Given the description of an element on the screen output the (x, y) to click on. 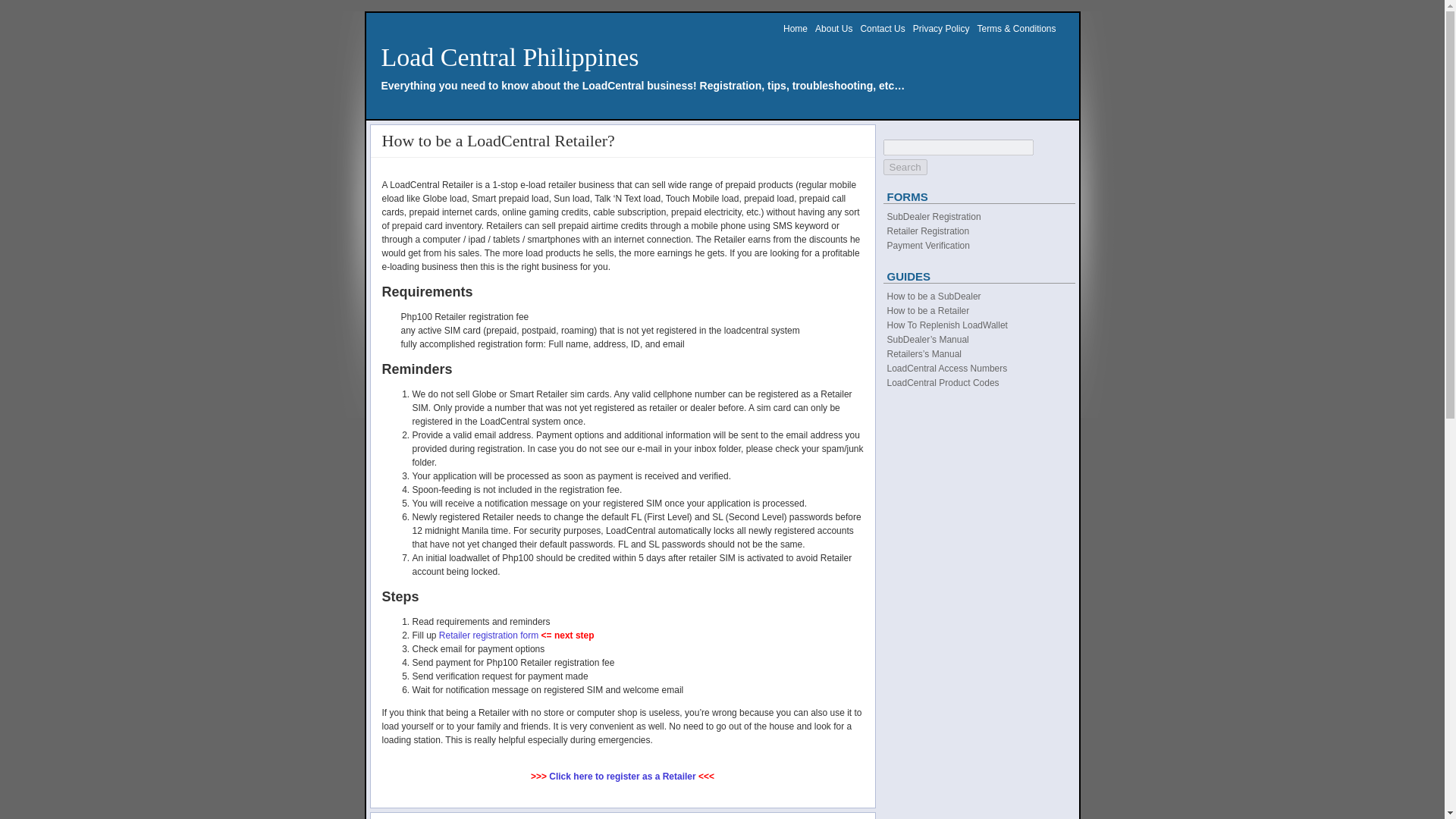
Home (795, 31)
Privacy Policy (940, 31)
How to be a SubDealer (933, 296)
How to be a LoadCentral Retailer? (497, 140)
LoadCentral Access Numbers (946, 368)
LoadCentral Retailer Registration Form (621, 776)
Load Central Philippines (509, 57)
LoadCentral Product Codes (942, 382)
How To Replenish LoadWallet (946, 325)
How to be a Retailer (927, 310)
LoadCentral Retailer Registration Form (488, 634)
Retailer Registration (927, 231)
Search (904, 166)
SubDealer Registration (933, 216)
Permanent Link to How to be a LoadCentral Retailer? (497, 140)
